Given the description of an element on the screen output the (x, y) to click on. 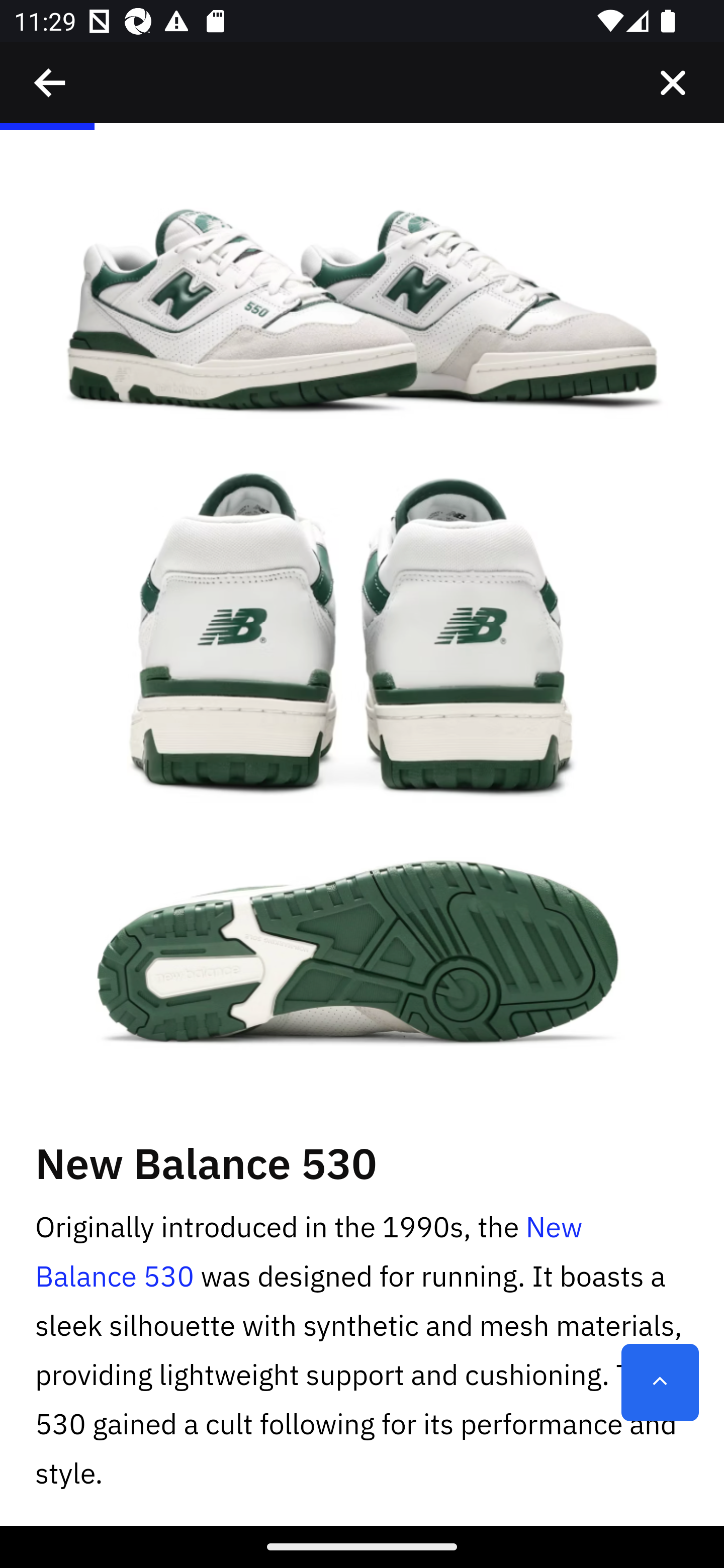
 (50, 83)
 (672, 83)
New Balance 530 (309, 1252)
Scroll to top  (659, 1382)
